Given the description of an element on the screen output the (x, y) to click on. 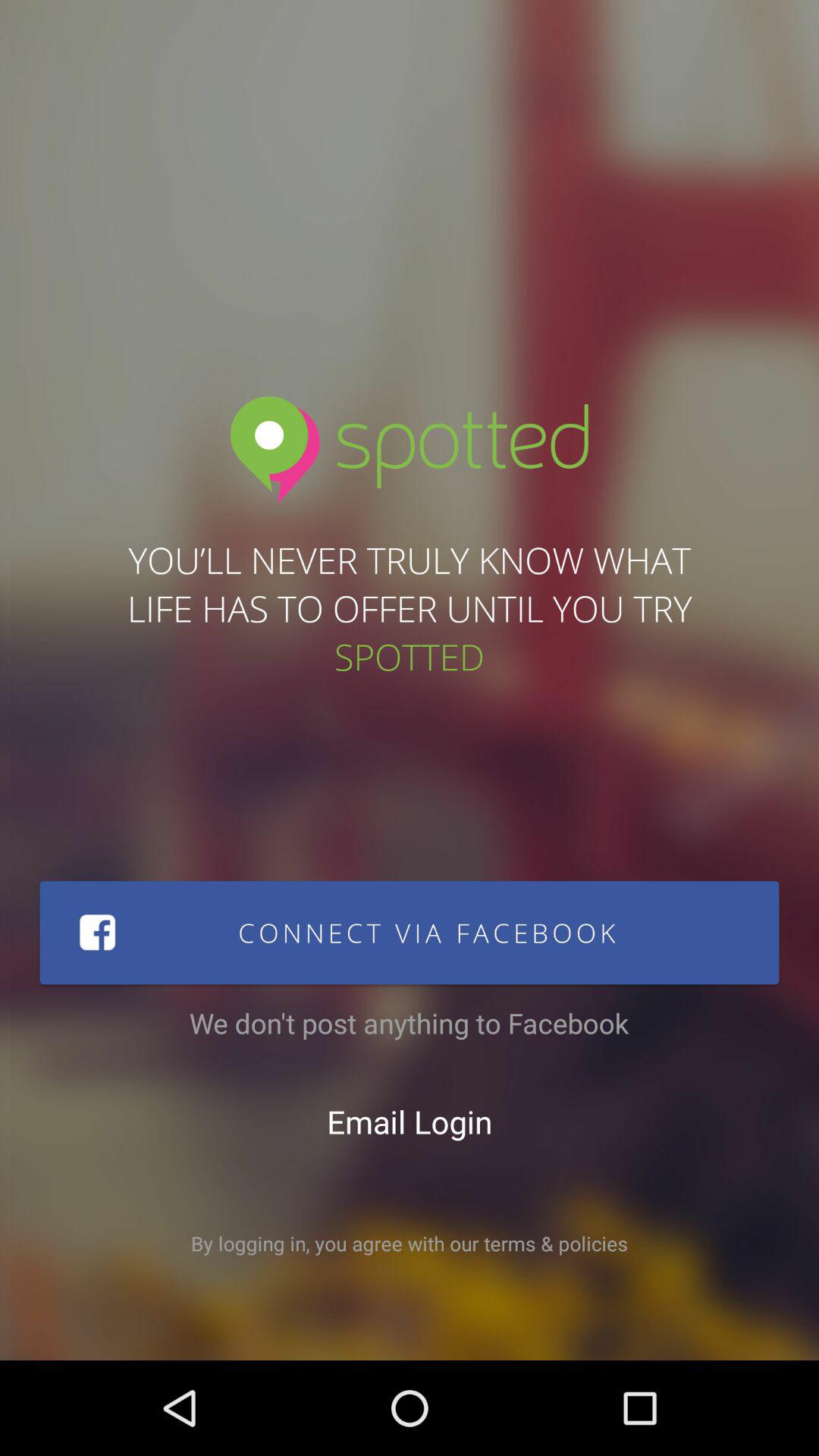
flip until the by logging in (409, 1243)
